Given the description of an element on the screen output the (x, y) to click on. 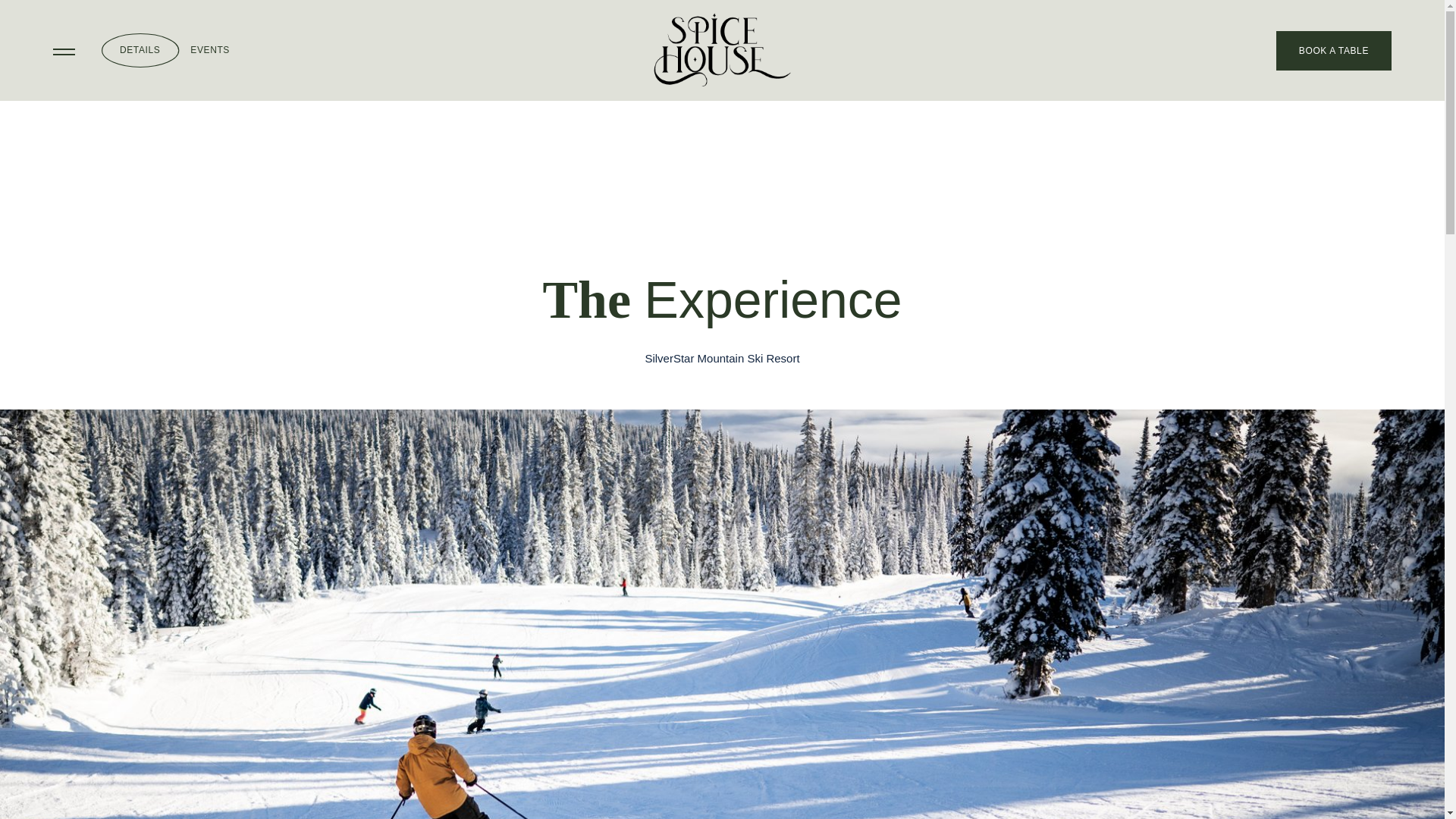
BOOK A TABLE (1333, 49)
